Given the description of an element on the screen output the (x, y) to click on. 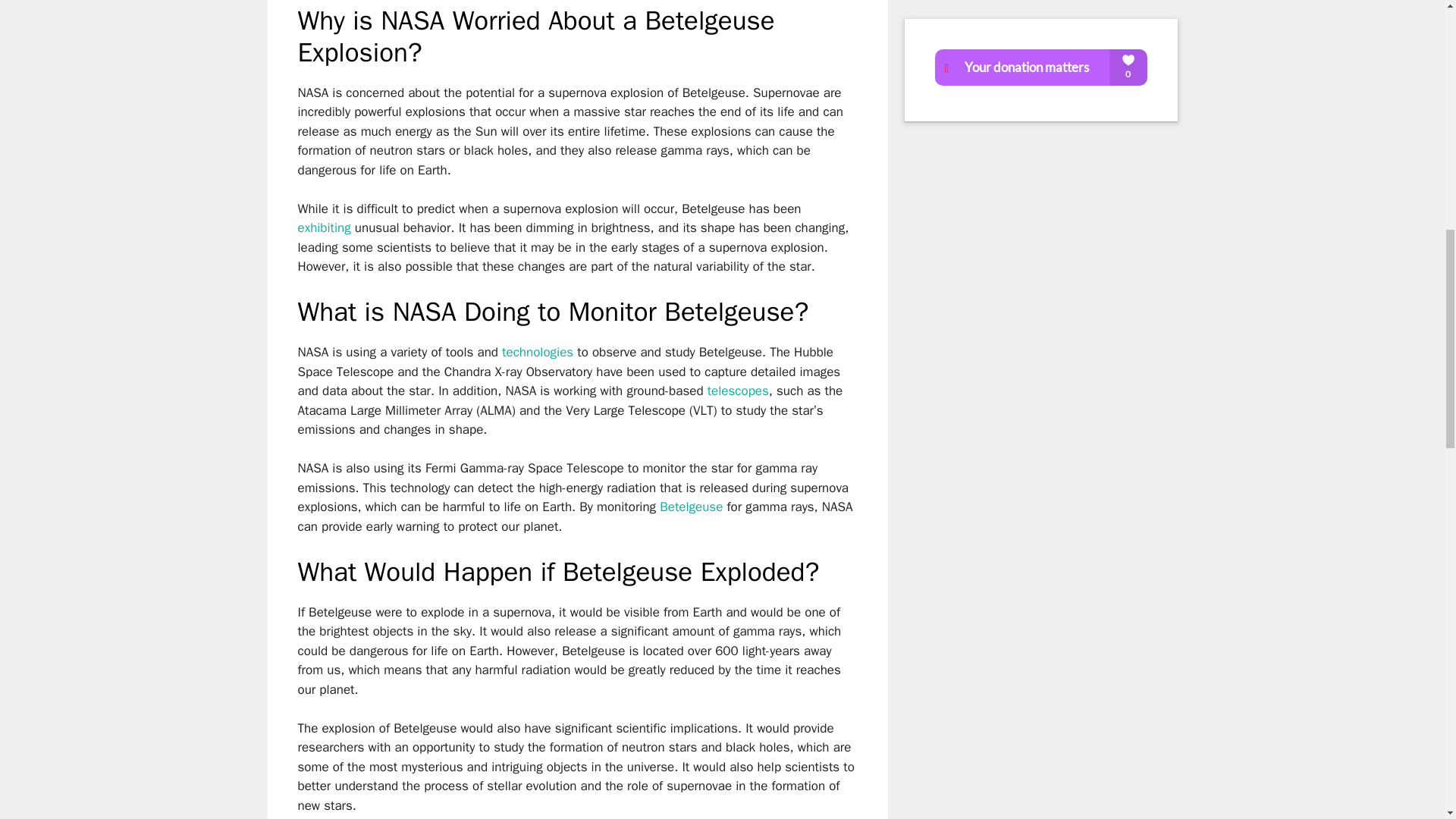
Betelgeuse (690, 506)
exhibiting (323, 227)
technologies (537, 351)
telescopes (737, 390)
